Given the description of an element on the screen output the (x, y) to click on. 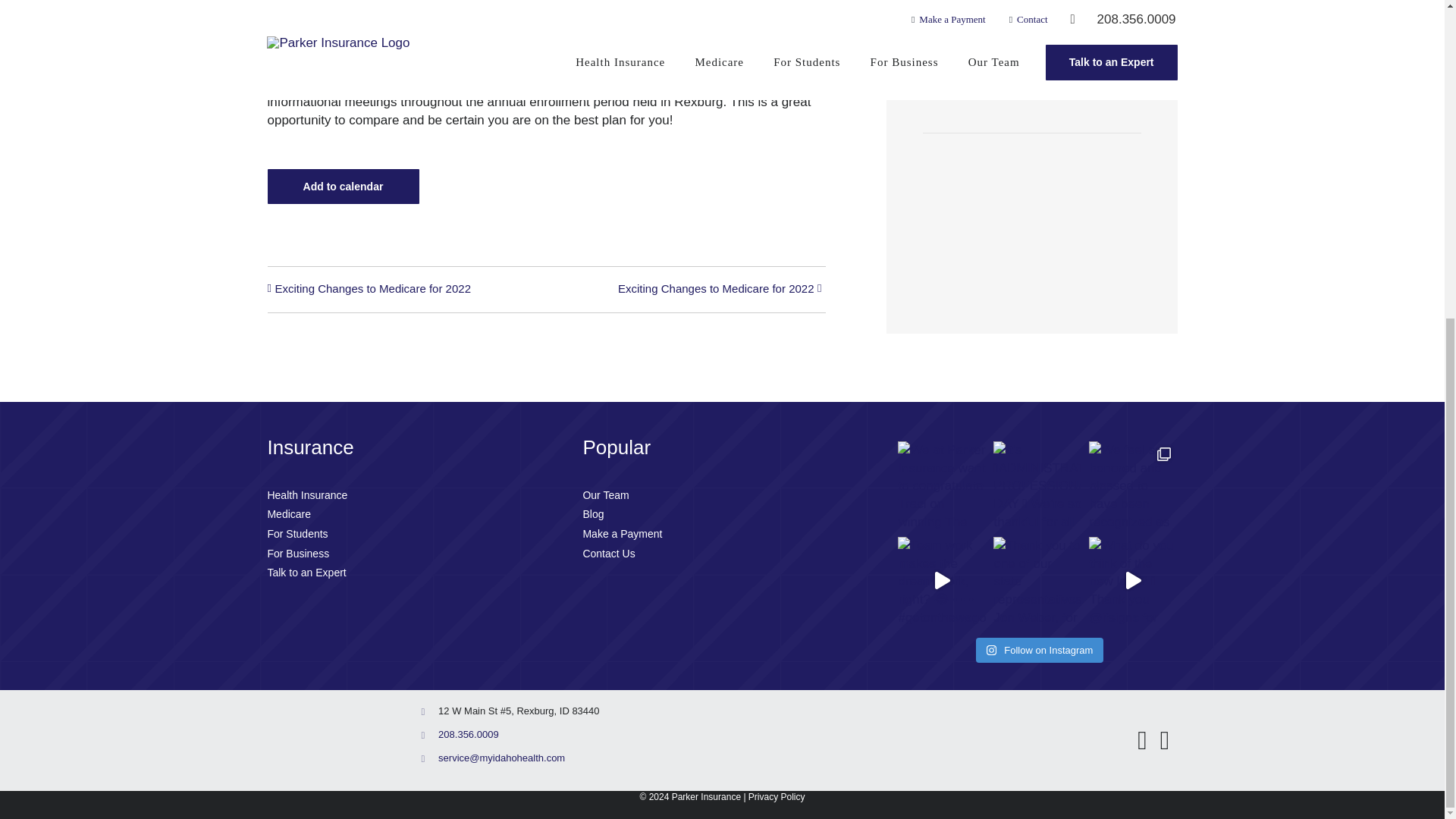
Add to calendar (343, 186)
Make a Payment (721, 534)
Talk to an Expert (406, 573)
Medicare (406, 514)
Blog (721, 514)
Click to view a Google Map (1029, 33)
Idaho (984, 17)
For Business (406, 554)
Contact Us (721, 554)
Health Insurance (406, 496)
For Students (406, 534)
Our Team (721, 496)
Exciting Changes to Medicare for 2022 (711, 289)
Exciting Changes to Medicare for 2022 (377, 289)
